Given the description of an element on the screen output the (x, y) to click on. 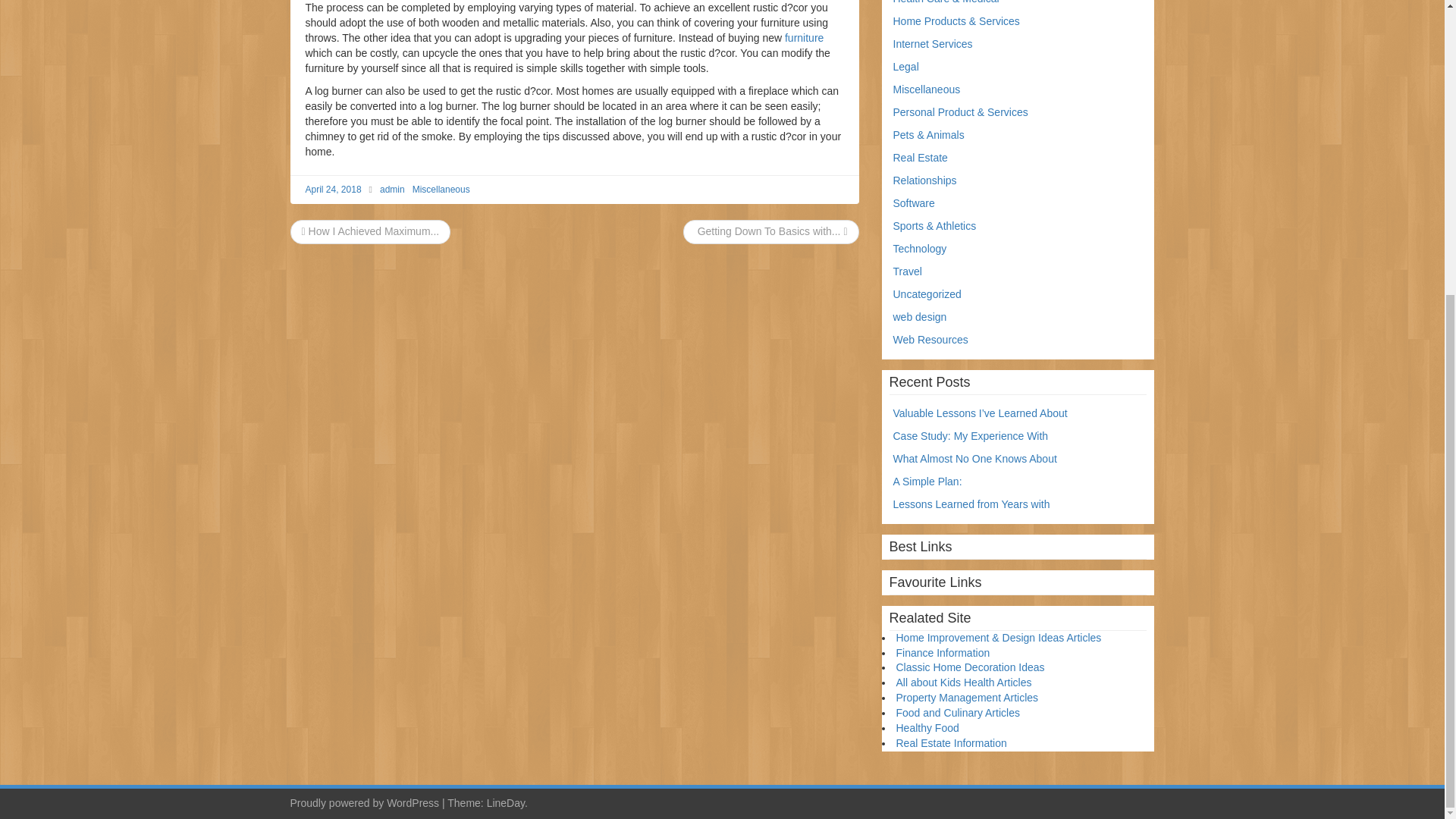
Web Resources (930, 339)
Travel (907, 271)
April 24, 2018 (332, 189)
Legal (905, 66)
Uncategorized (926, 294)
 How I Achieved Maximum... (370, 231)
Miscellaneous (926, 89)
 Getting Down To Basics with...  (770, 231)
Internet Services (932, 43)
Software (913, 203)
